Given the description of an element on the screen output the (x, y) to click on. 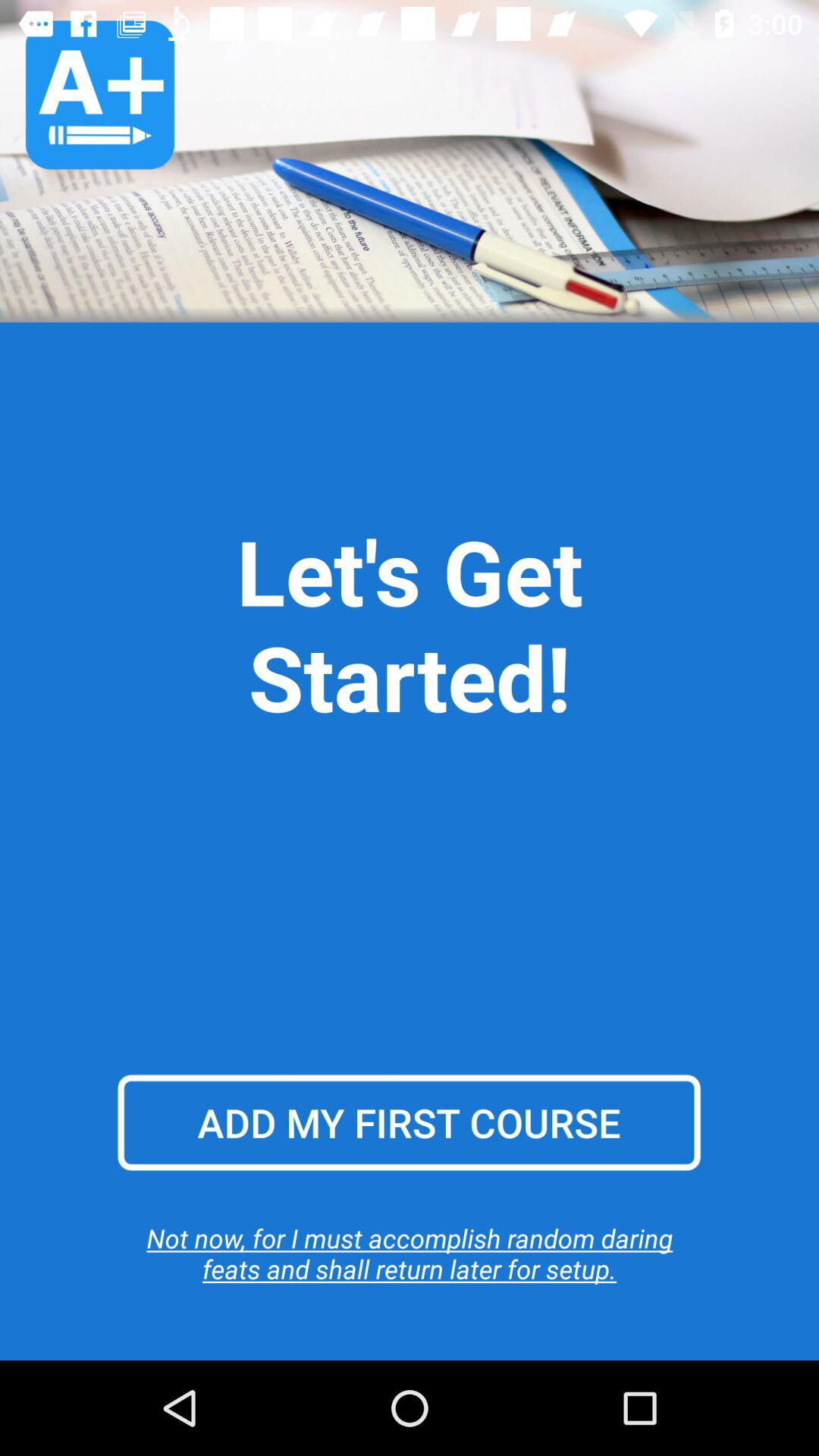
launch icon below let s get item (408, 1122)
